Given the description of an element on the screen output the (x, y) to click on. 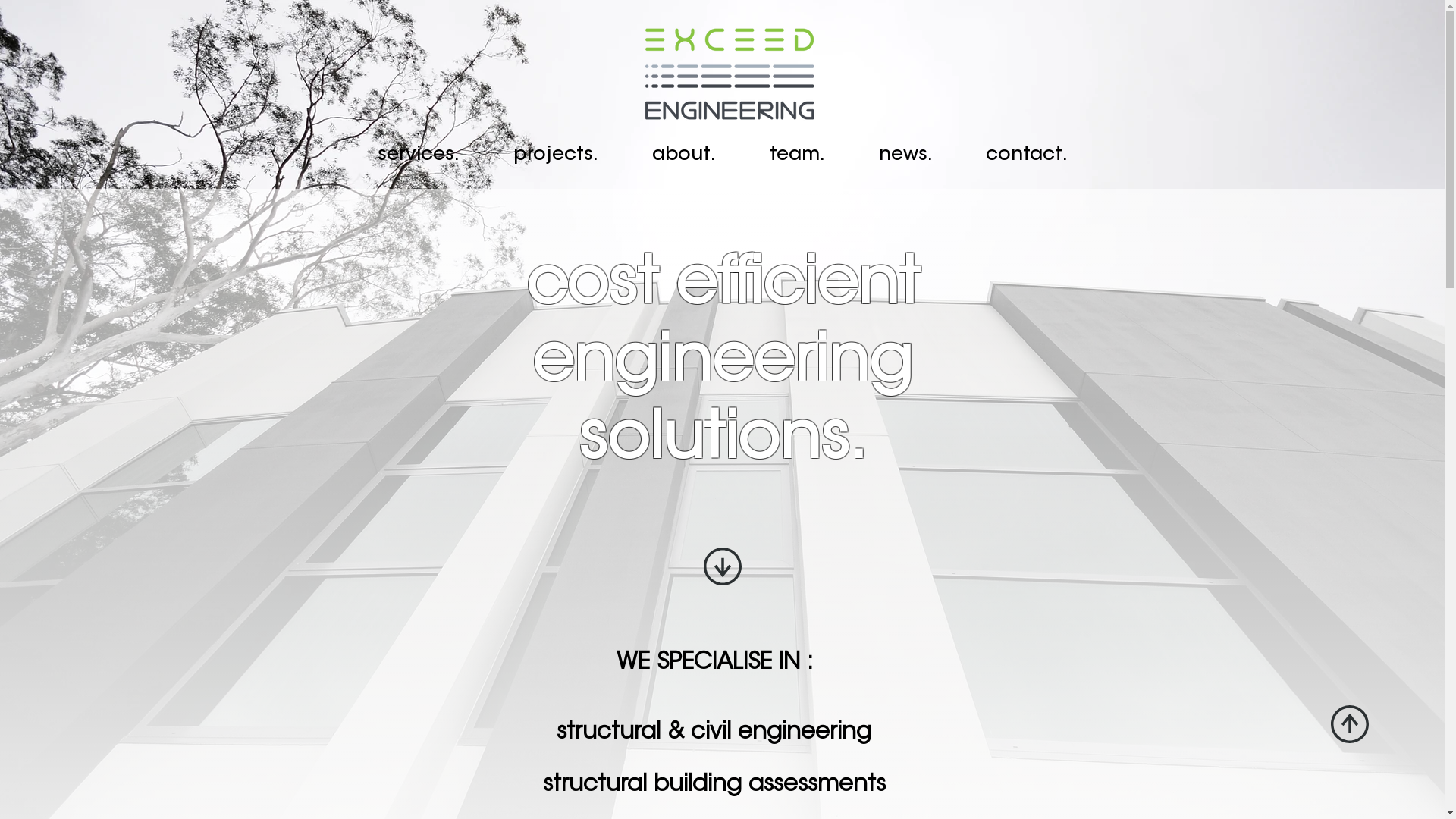
projects. Element type: text (555, 155)
services. Element type: text (418, 155)
team. Element type: text (797, 155)
news. Element type: text (905, 155)
contact. Element type: text (1025, 155)
about. Element type: text (683, 155)
